Given the description of an element on the screen output the (x, y) to click on. 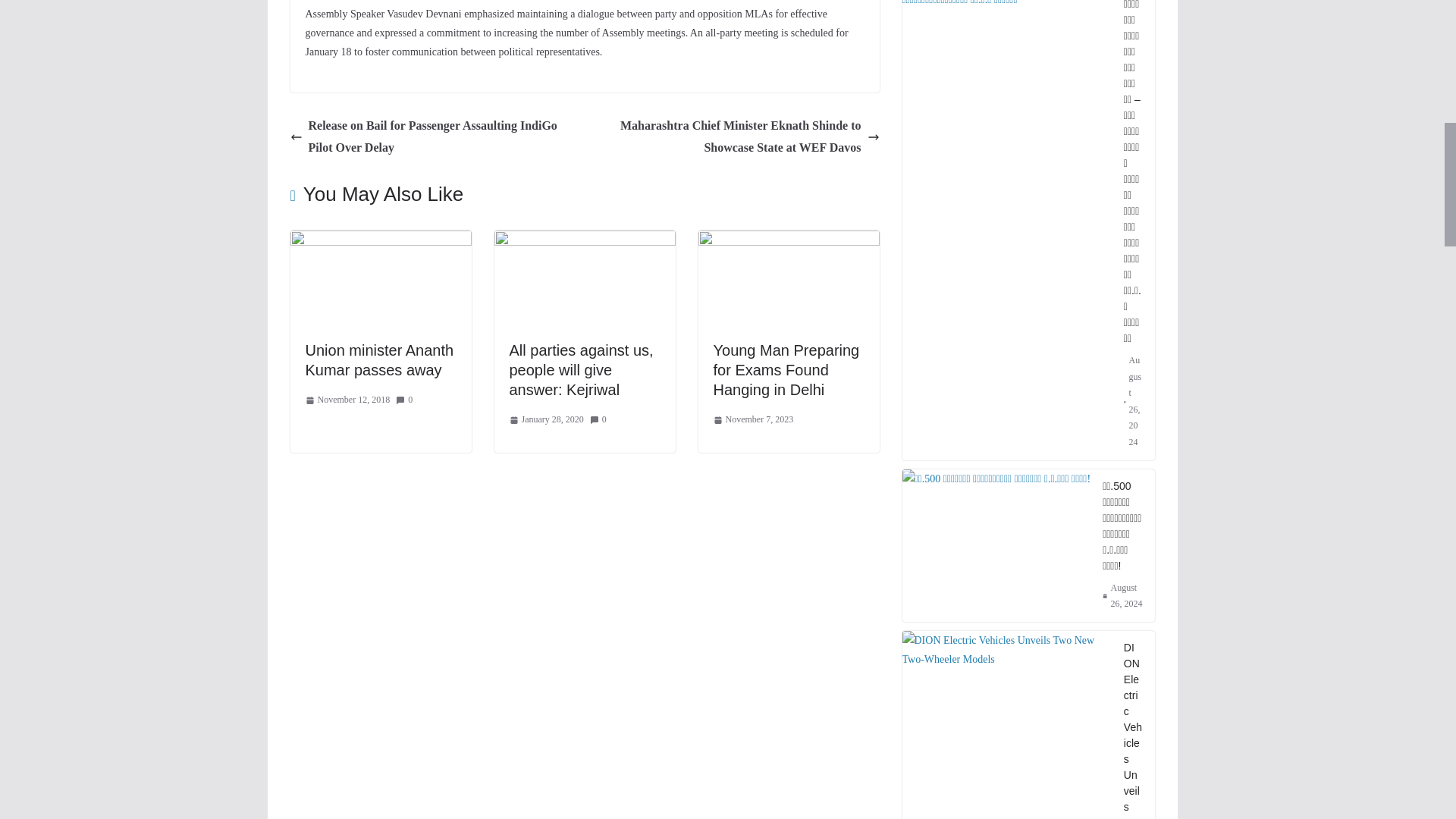
9:44 AM (347, 400)
Union minister Ananth Kumar passes away (378, 360)
Union minister Ananth Kumar passes away (379, 240)
